Given the description of an element on the screen output the (x, y) to click on. 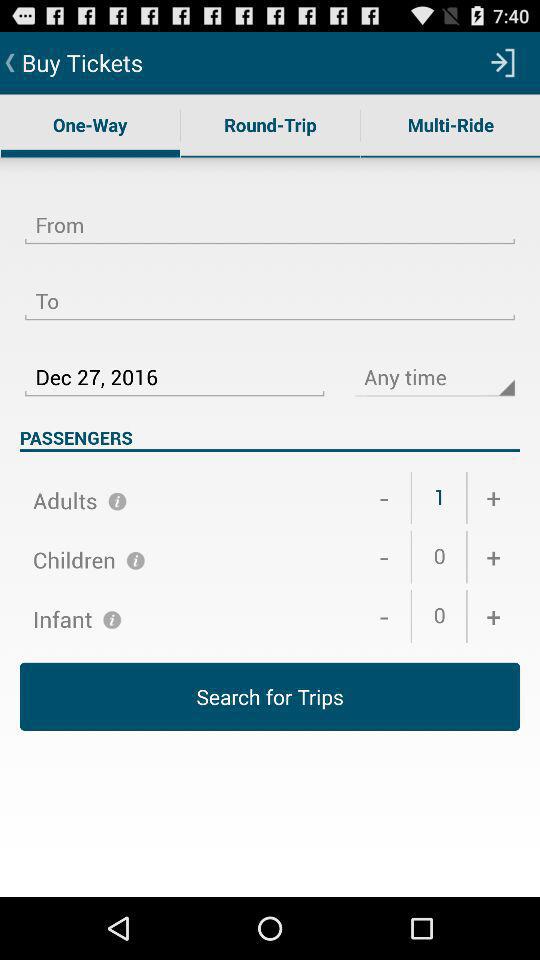
press the item above the 0 item (384, 557)
